Given the description of an element on the screen output the (x, y) to click on. 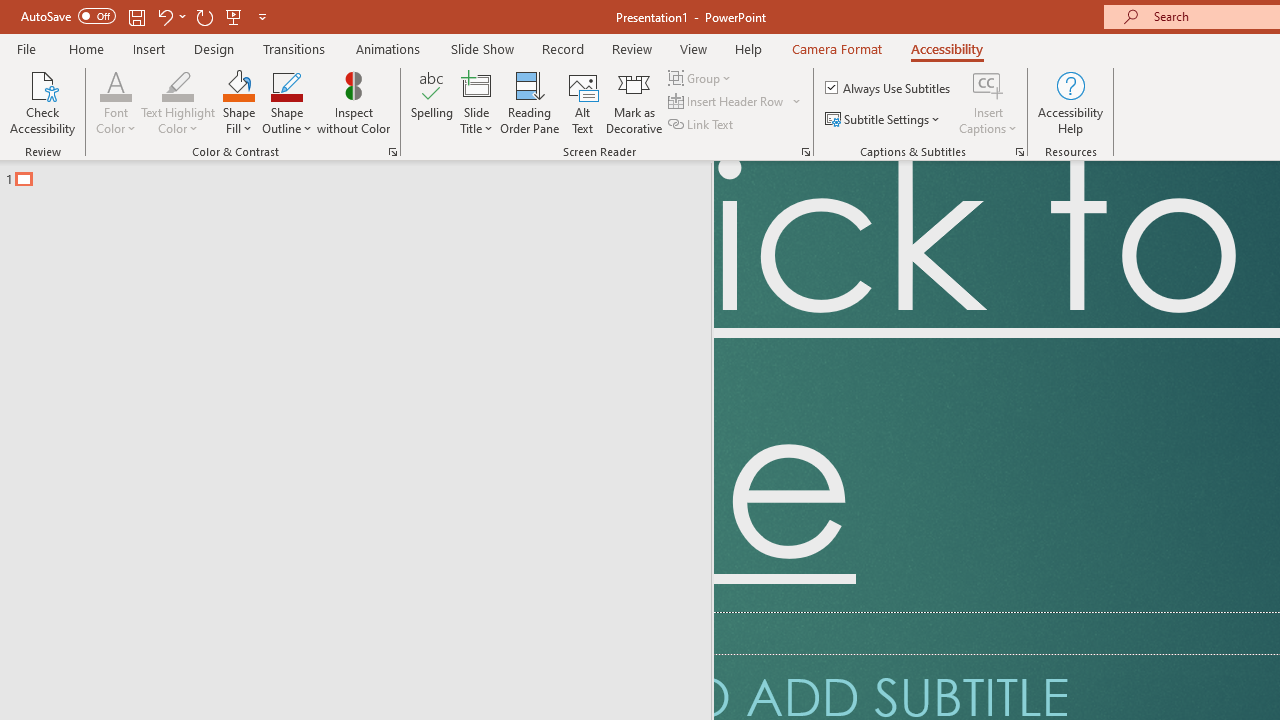
Undo (170, 15)
Always Use Subtitles (889, 87)
Animations (388, 48)
View (693, 48)
Outline (364, 174)
From Beginning (234, 15)
Customize Quick Access Toolbar (262, 15)
System (10, 11)
Accessibility (946, 48)
Reading Order Pane (529, 102)
Undo (164, 15)
Color & Contrast (392, 151)
Help (748, 48)
Text Highlight Color (178, 102)
Shape Outline Blue, Accent 1 (286, 84)
